Given the description of an element on the screen output the (x, y) to click on. 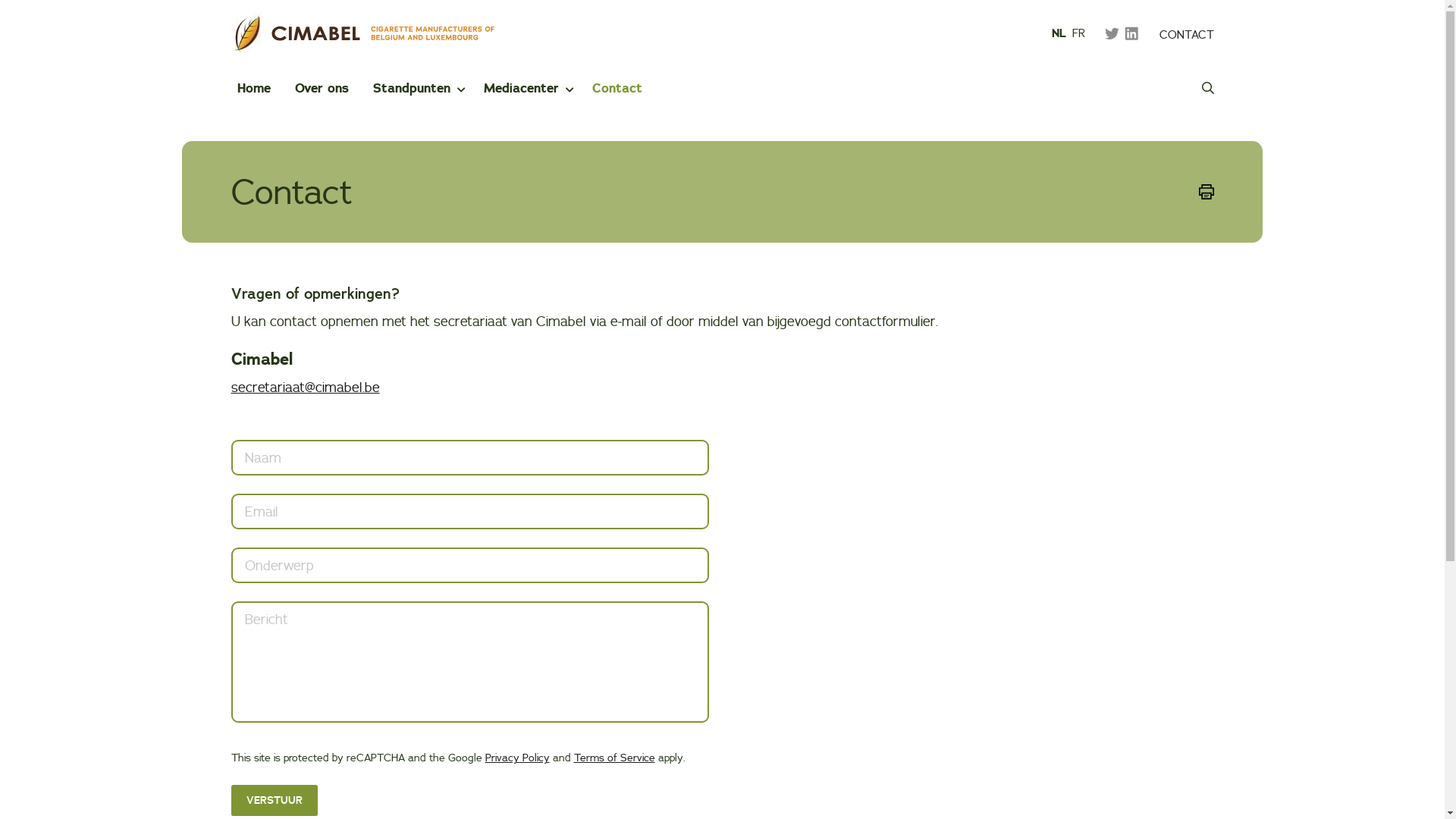
PRINT Element type: text (1205, 191)
Cimabel Element type: hover (361, 30)
TOGGLE DROPDOWN Element type: text (568, 88)
Verstuur Element type: text (273, 799)
TOGGLE DROPDOWN Element type: text (458, 88)
CONTACT Element type: text (1185, 34)
Home Element type: text (253, 87)
Privacy Policy Element type: text (517, 757)
Standpunten Element type: text (408, 87)
NL Element type: text (1058, 32)
LINKEDIN Element type: text (1131, 33)
FR Element type: text (1078, 32)
TWITTER Element type: text (1111, 33)
Mediacenter Element type: text (517, 87)
Terms of Service Element type: text (613, 757)
secretariaat@cimabel.be Element type: text (304, 386)
Over ons Element type: text (321, 87)
Contact Element type: text (616, 87)
